Given the description of an element on the screen output the (x, y) to click on. 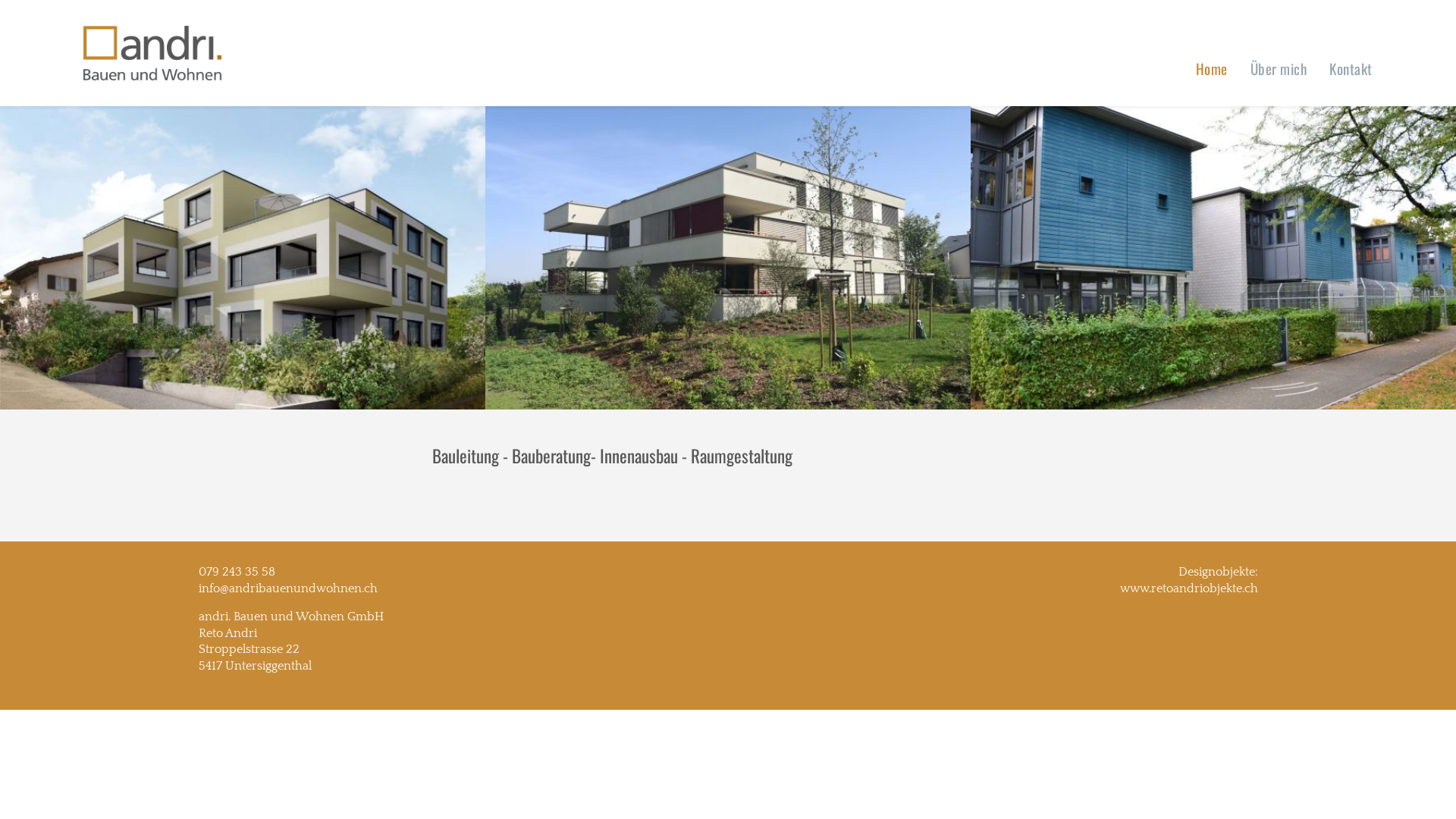
Kontakt Element type: text (1350, 67)
info Element type: text (208, 588)
@andribauenundwohnen.ch Element type: text (298, 588)
Home Element type: text (1211, 67)
www.retoandriobjekte.ch Element type: text (1188, 588)
